Given the description of an element on the screen output the (x, y) to click on. 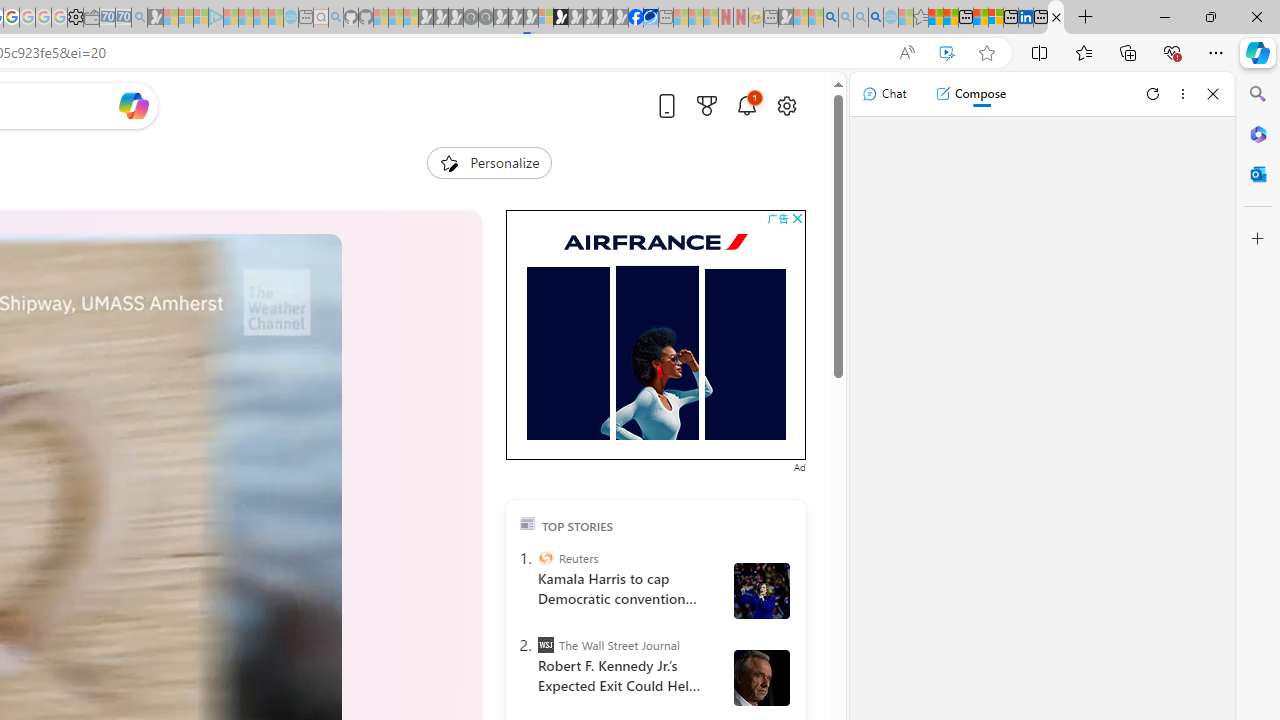
Microsoft rewards (707, 105)
Chat (884, 93)
Bing Real Estate - Home sales and rental listings - Sleeping (139, 17)
The Wall Street Journal (545, 645)
Open settings (786, 105)
